Given the description of an element on the screen output the (x, y) to click on. 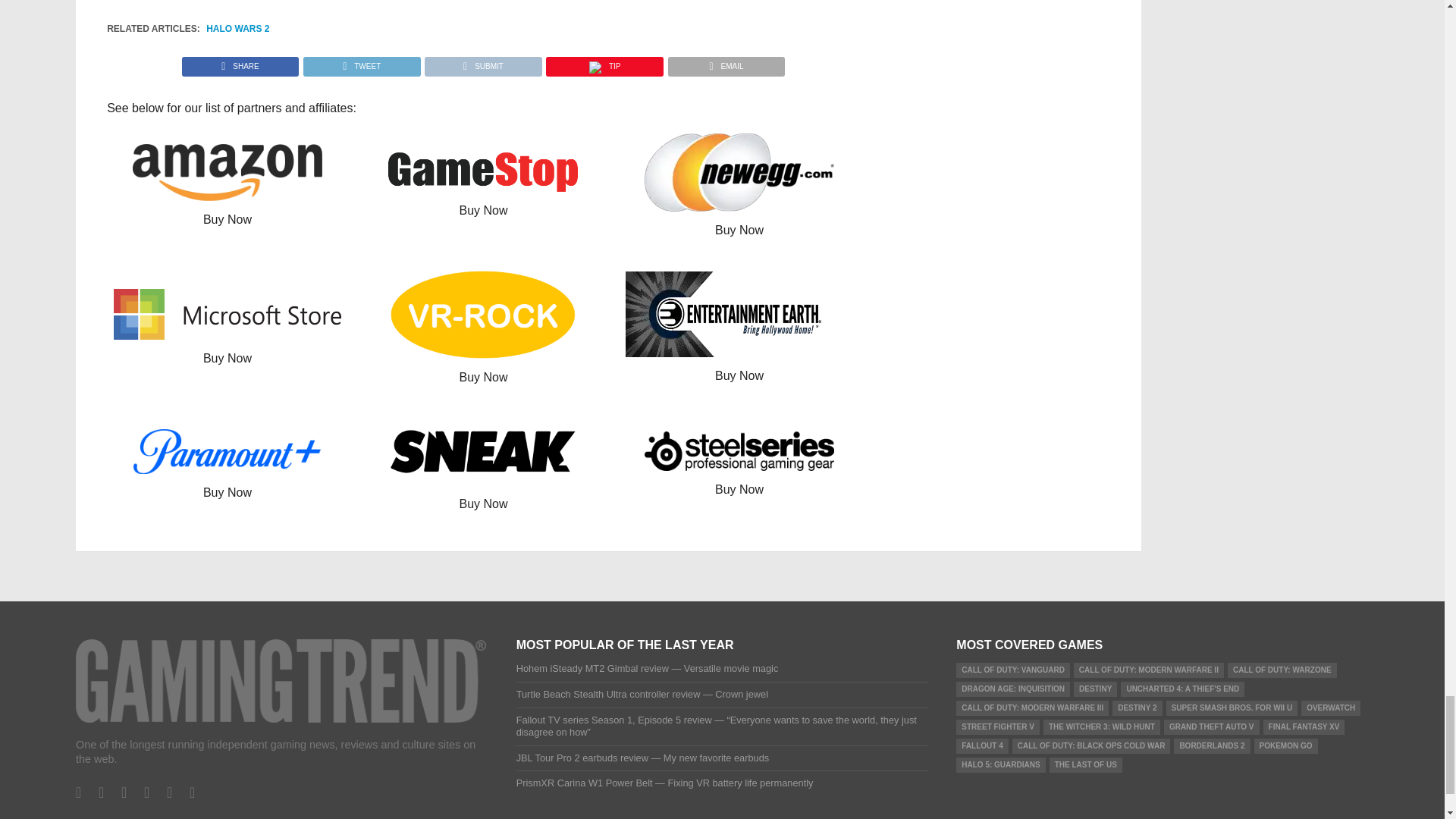
Share on Facebook (240, 62)
Tweet This Post (361, 62)
